Given the description of an element on the screen output the (x, y) to click on. 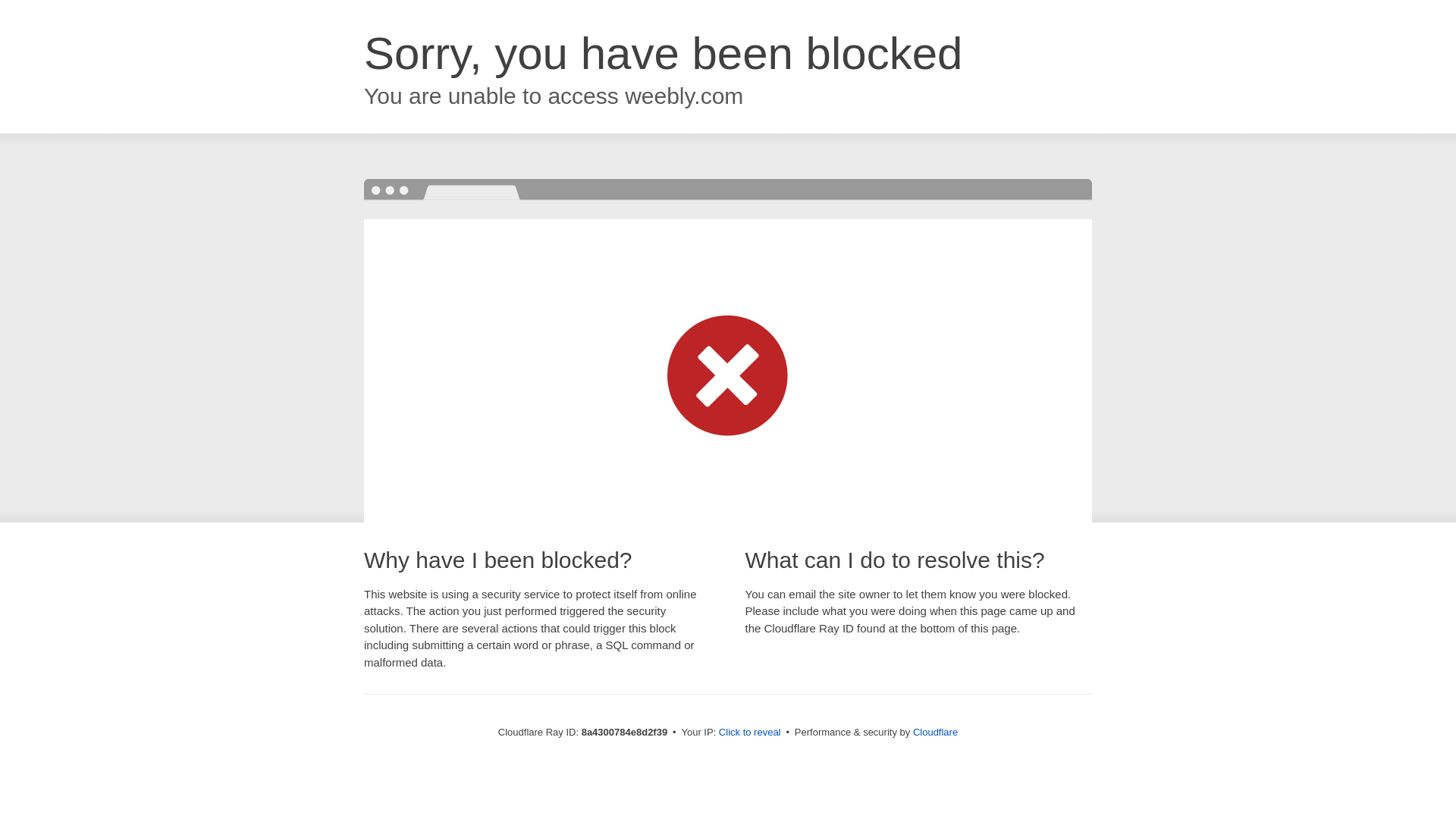
Click to reveal (749, 732)
Cloudflare (935, 731)
